Given the description of an element on the screen output the (x, y) to click on. 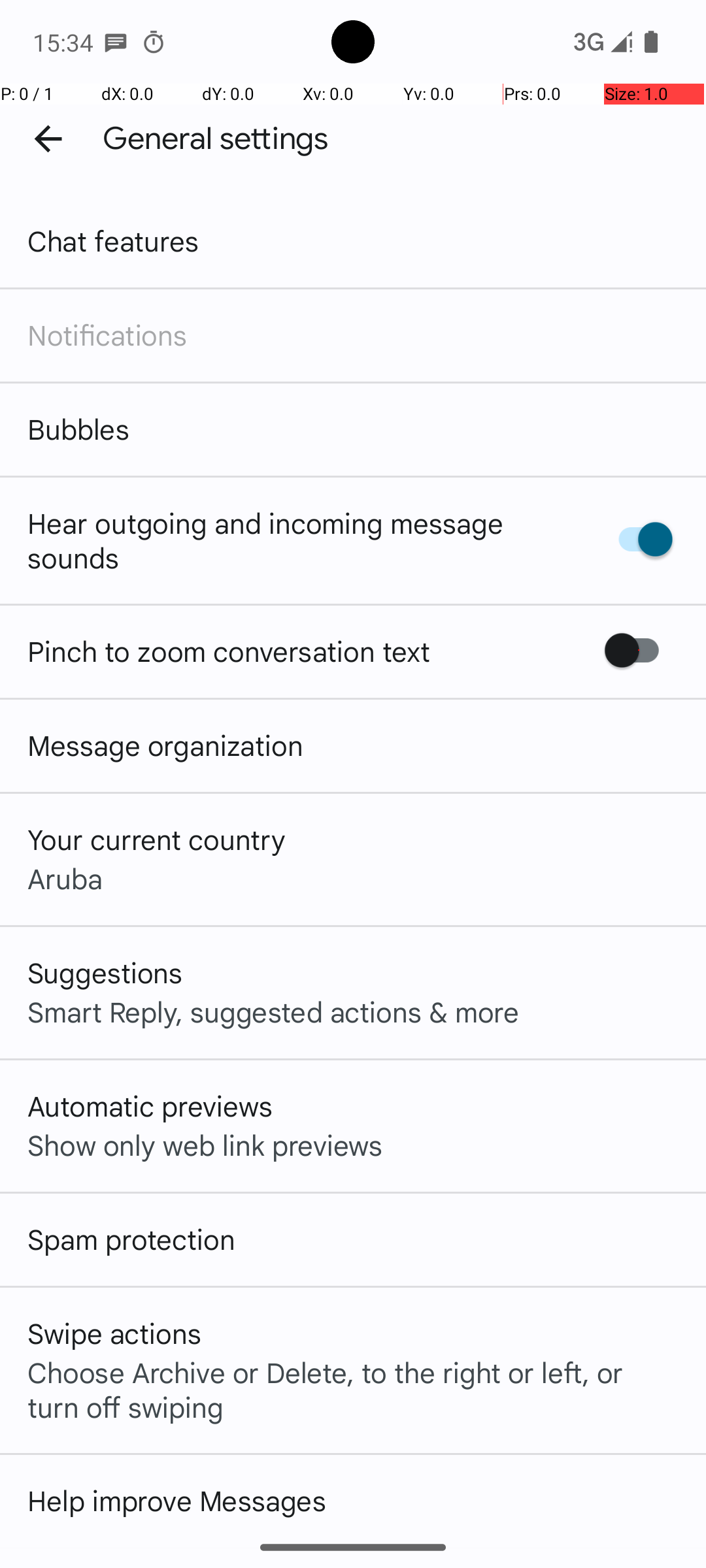
General settings Element type: android.widget.TextView (215, 138)
Chat features Element type: android.widget.TextView (113, 240)
Hear outgoing and incoming message sounds Element type: android.widget.TextView (299, 539)
Pinch to zoom conversation text Element type: android.widget.TextView (228, 650)
Message organization Element type: android.widget.TextView (165, 744)
Your current country Element type: android.widget.TextView (156, 838)
Aruba Element type: android.widget.TextView (64, 877)
Smart Reply, suggested actions & more Element type: android.widget.TextView (273, 1010)
Automatic previews Element type: android.widget.TextView (149, 1105)
Show only web link previews Element type: android.widget.TextView (205, 1144)
Spam protection Element type: android.widget.TextView (131, 1238)
Swipe actions Element type: android.widget.TextView (114, 1332)
Choose Archive or Delete, to the right or left, or turn off swiping Element type: android.widget.TextView (352, 1388)
Help improve Messages Element type: android.widget.TextView (176, 1499)
